Given the description of an element on the screen output the (x, y) to click on. 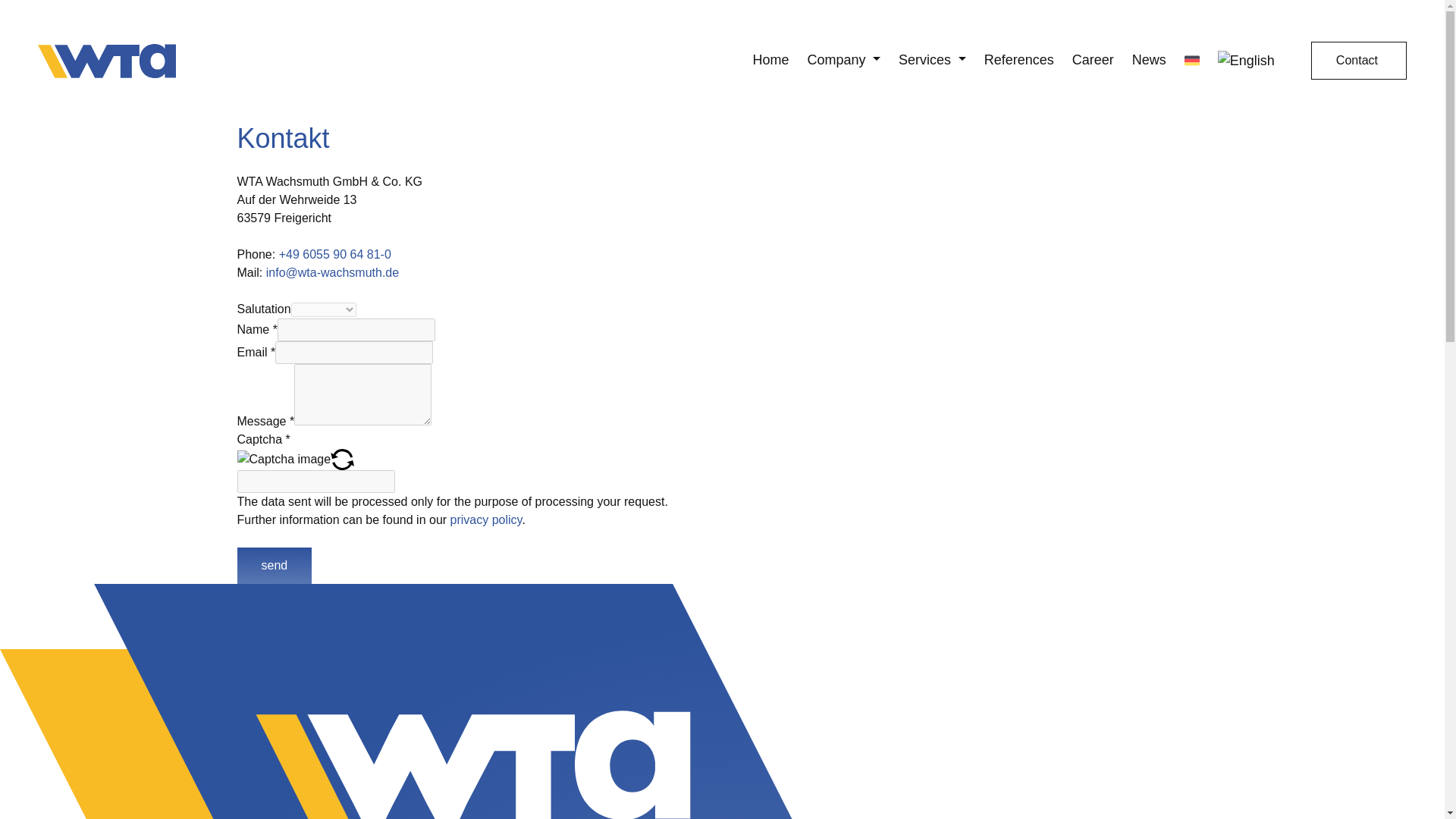
References (1019, 60)
News (1149, 60)
privacy policy (485, 519)
Services (932, 60)
Contact (1358, 60)
Home (770, 60)
Career (1092, 60)
send (273, 565)
Company (843, 60)
